Given the description of an element on the screen output the (x, y) to click on. 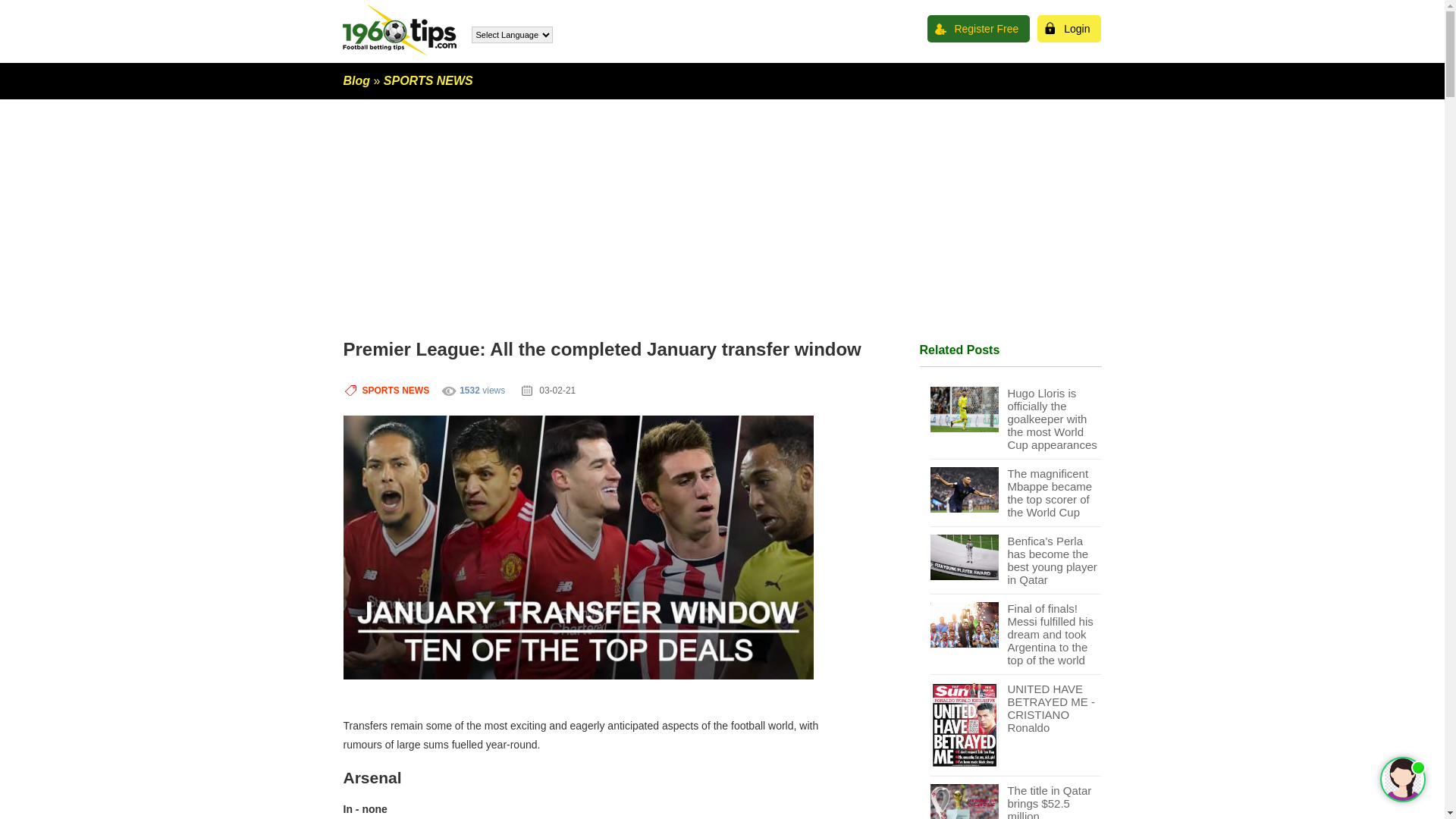
Advertisement Element type: hover (721, 205)
Premier League: All the completed January transfer window Element type: hover (577, 547)
SPORTS NEWS Element type: text (428, 80)
SPORTS NEWS Element type: text (395, 390)
Register Free Element type: text (978, 28)
Login Element type: text (1069, 28)
Blog Element type: text (356, 80)
